Given the description of an element on the screen output the (x, y) to click on. 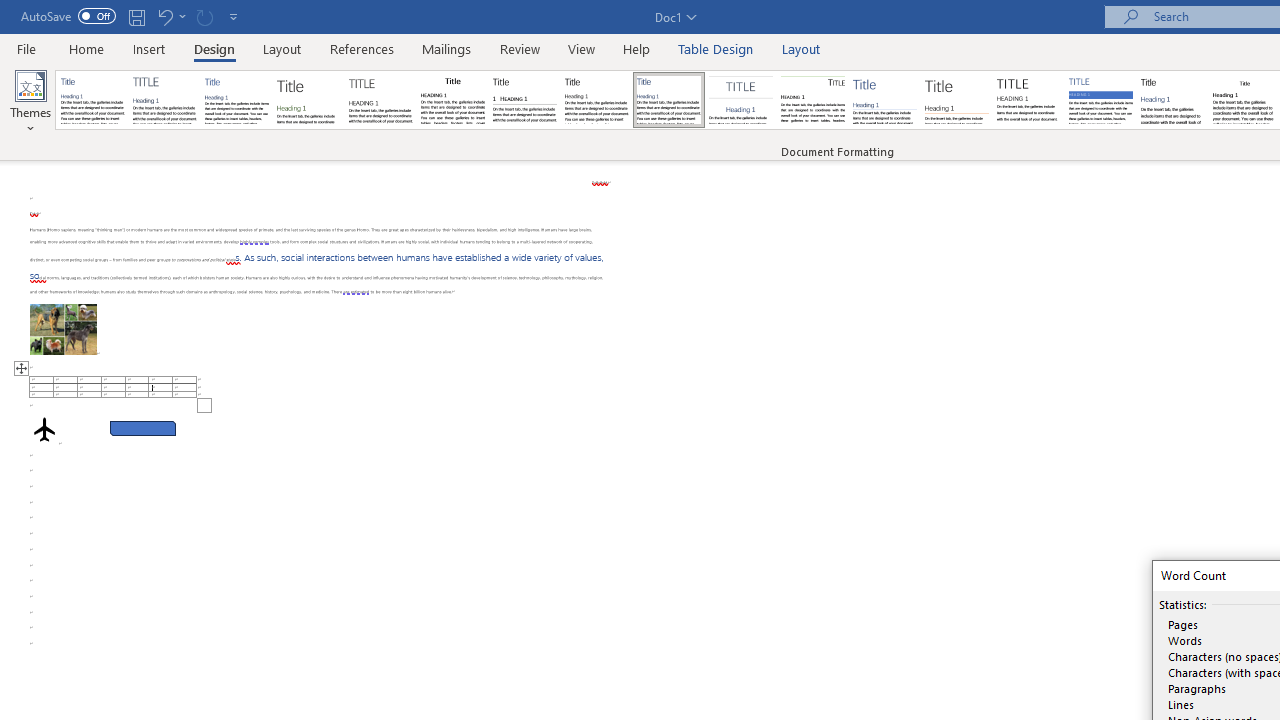
Airplane with solid fill (43, 429)
Help (637, 48)
Word (1172, 100)
File Tab (26, 48)
Save (136, 15)
System (10, 11)
Basic (Elegant) (164, 100)
Mailings (447, 48)
Black & White (Classic) (452, 100)
References (362, 48)
Layout (801, 48)
Quick Access Toolbar (131, 16)
AutoSave (68, 16)
